Given the description of an element on the screen output the (x, y) to click on. 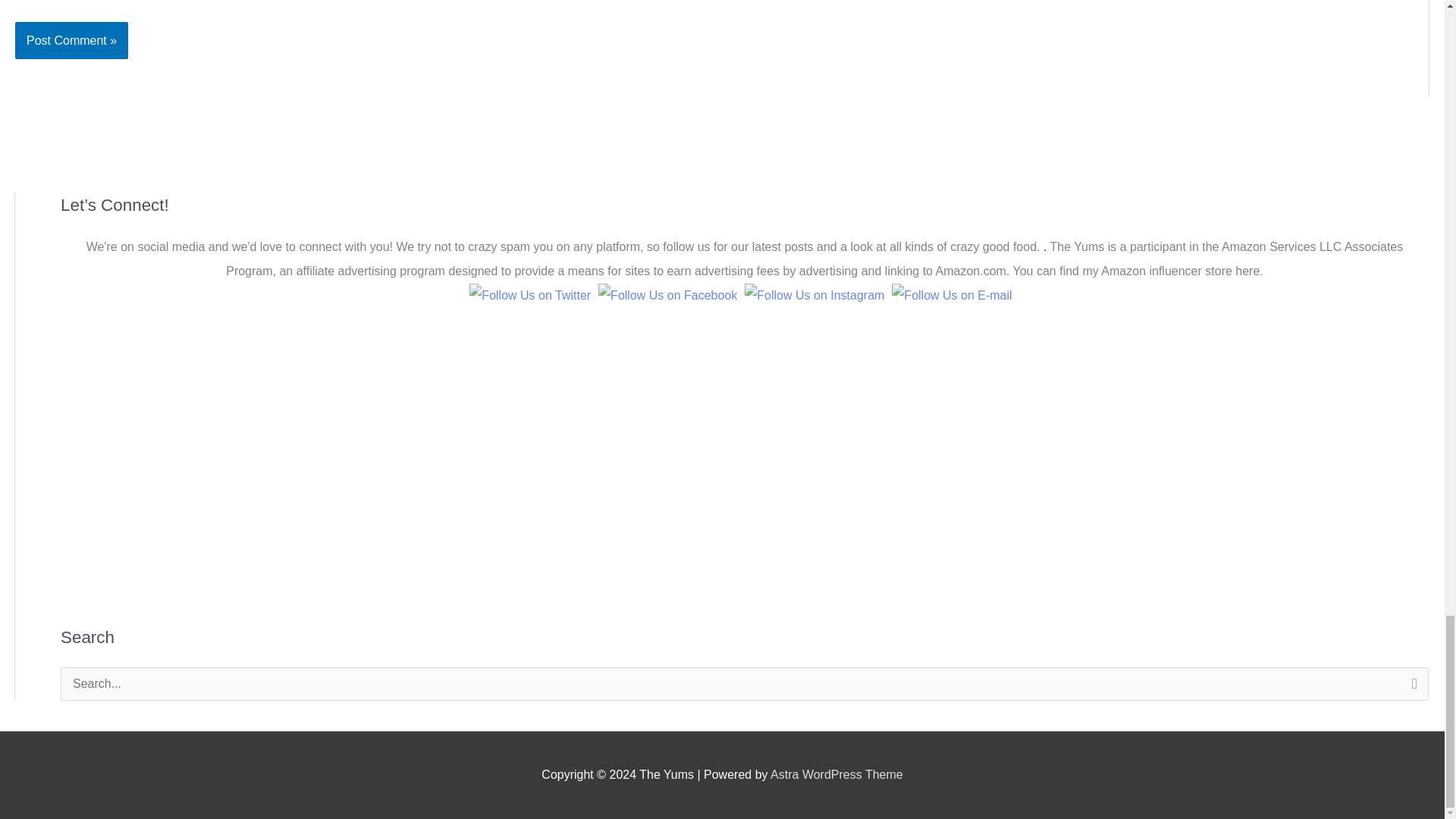
Follow Us on Instagram (813, 295)
Follow Us on Twitter (529, 295)
Follow Us on E-mail (951, 295)
Follow Us on Facebook (667, 295)
